Given the description of an element on the screen output the (x, y) to click on. 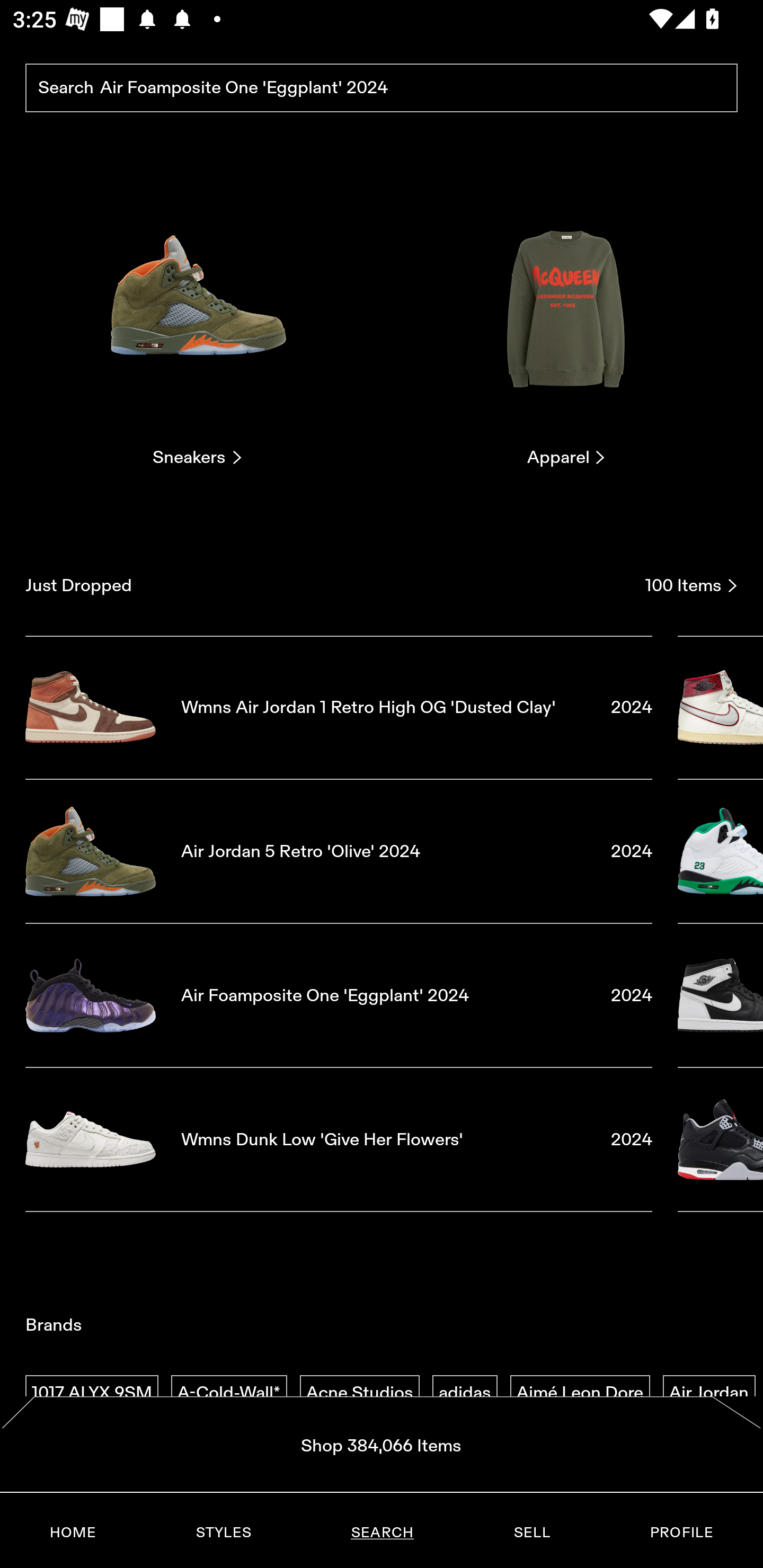
Search (381, 88)
Sneakers (196, 323)
Apparel (565, 323)
Just Dropped (328, 585)
100 Items (691, 585)
Wmns Air Jordan 1 Retro High OG 'Dusted Clay' 2024 (338, 707)
Air Jordan 5 Retro 'Olive' 2024 2024 (338, 851)
Air Foamposite One 'Eggplant' 2024 2024 (338, 995)
Wmns Dunk Low 'Give Her Flowers' 2024 (338, 1139)
1017 ALYX 9SM (91, 1393)
A-Cold-Wall* (228, 1393)
Acne Studios (359, 1393)
adidas (464, 1393)
Aimé Leon Dore (580, 1393)
Air Jordan (709, 1393)
HOME (72, 1532)
STYLES (222, 1532)
SEARCH (381, 1532)
SELL (531, 1532)
PROFILE (681, 1532)
